Given the description of an element on the screen output the (x, y) to click on. 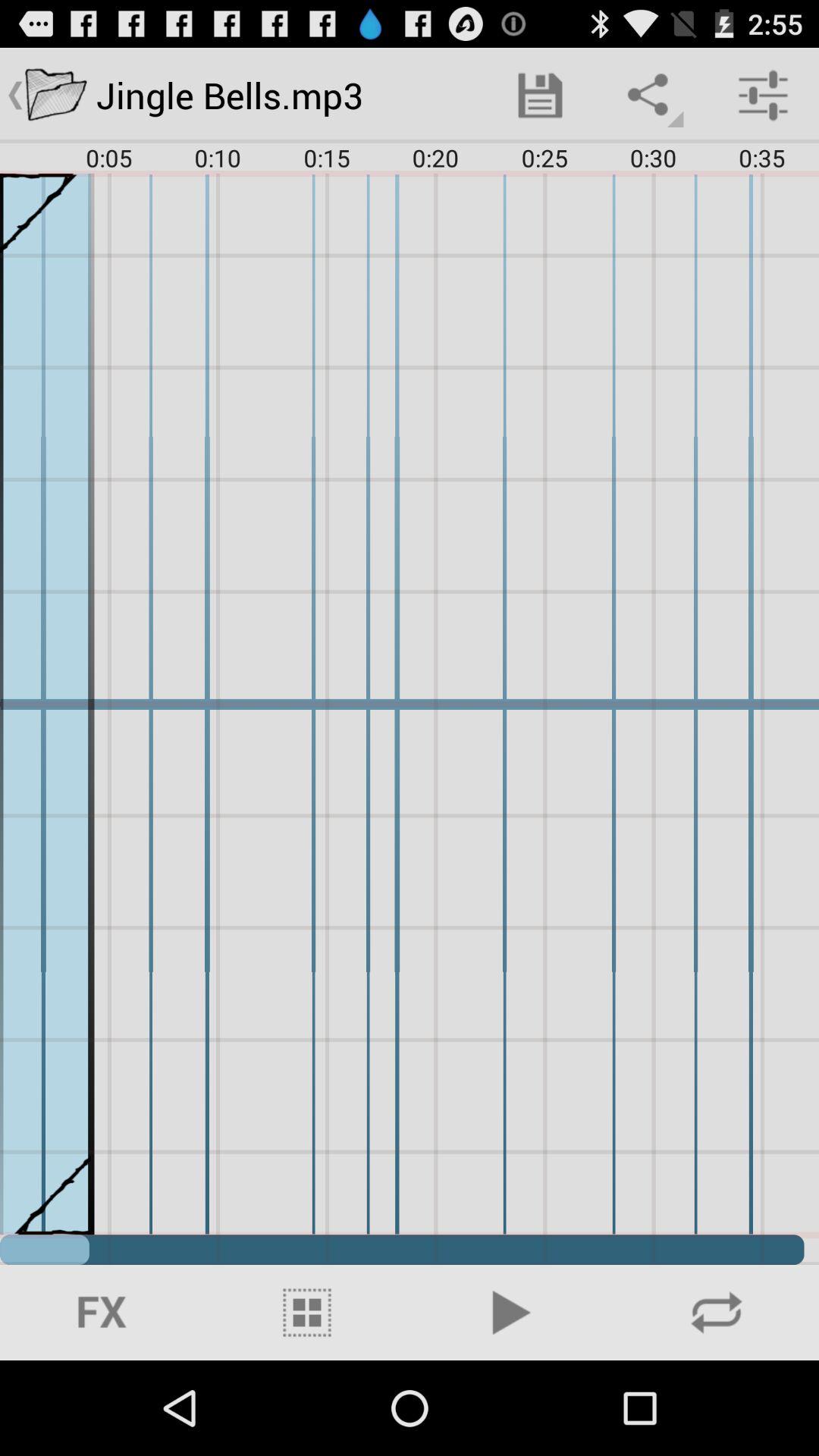
toggle repeat play (716, 1312)
